Given the description of an element on the screen output the (x, y) to click on. 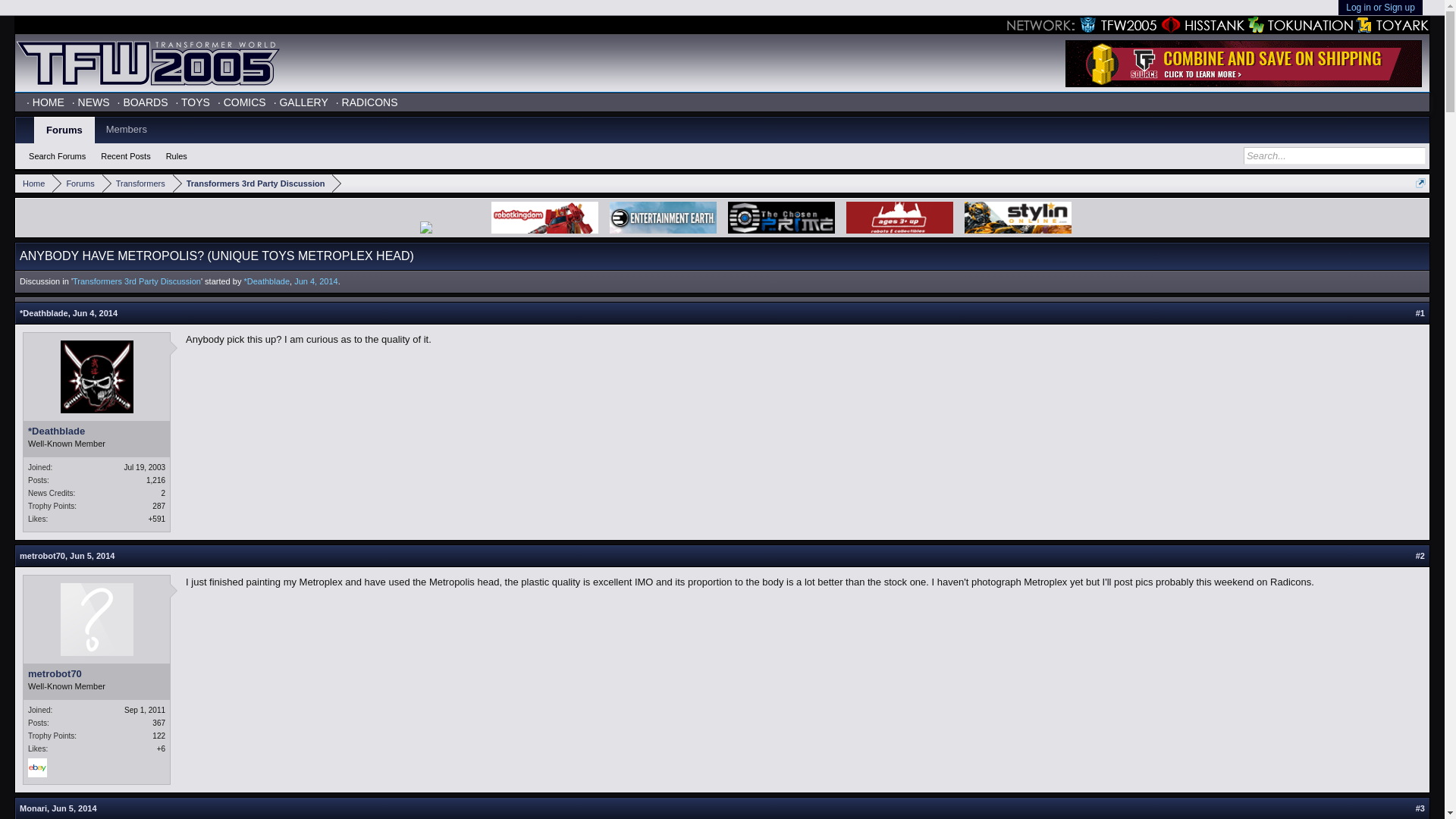
Transformers 3rd Party Discussion (253, 183)
367 (158, 723)
287 (158, 506)
Jun 5, 2014 (73, 808)
Permalink (94, 312)
Jun 4, 2014 (315, 280)
122 (158, 736)
Forums (76, 183)
Permalink (92, 555)
Open quick navigation (1420, 183)
Jun 5, 2014 (92, 555)
metrobot70 (96, 674)
Jun 4, 2014 at 11:04 PM (315, 280)
Transformers (137, 183)
metrobot70 (42, 555)
